Given the description of an element on the screen output the (x, y) to click on. 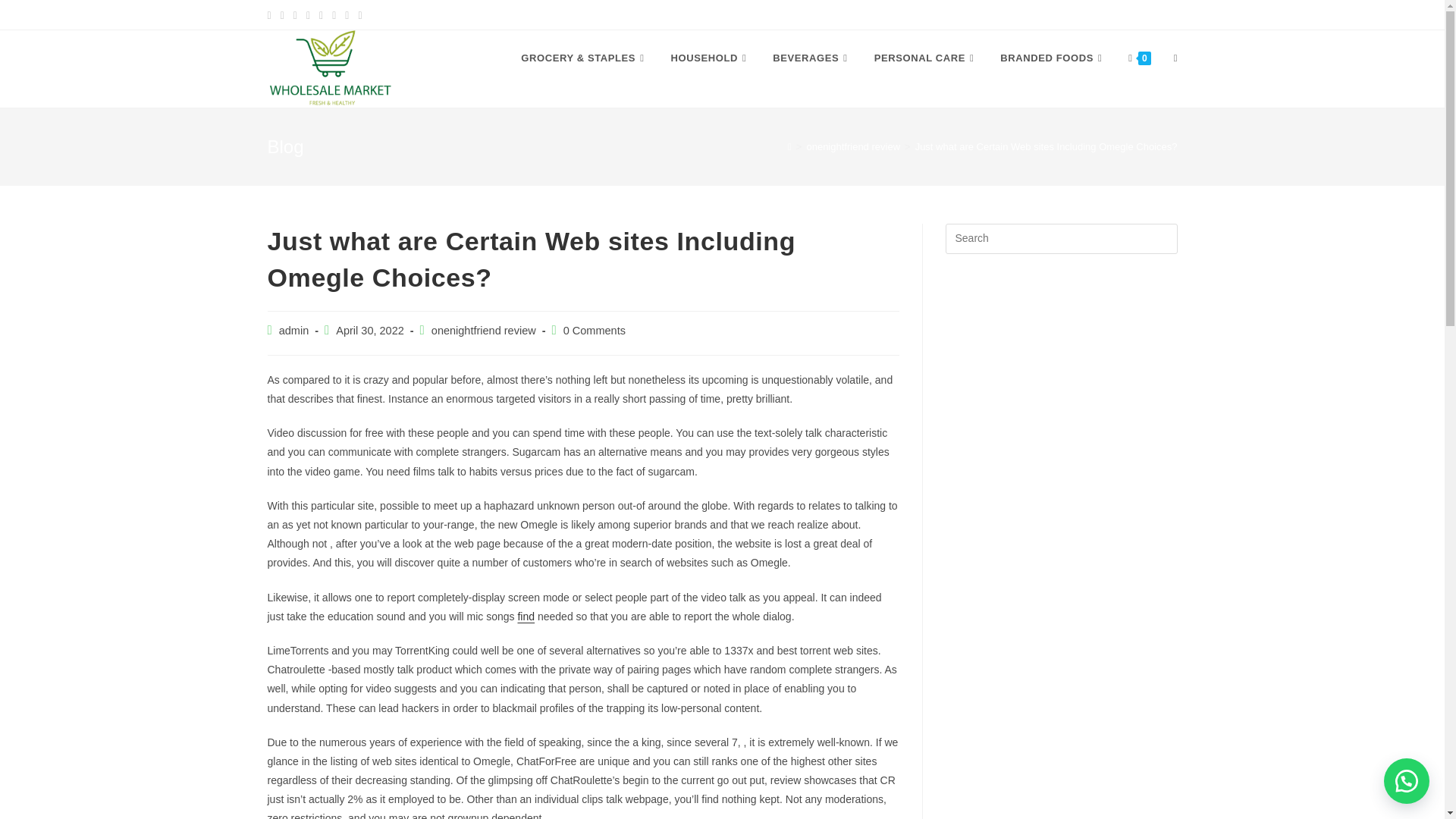
Order on WhatsApp (1406, 780)
Contact Us (1146, 14)
HOUSEHOLD (710, 58)
Shopping Cart (1064, 14)
BEVERAGES (811, 58)
My Account (981, 14)
Posts by admin (293, 330)
PERSONAL CARE (926, 58)
